Given the description of an element on the screen output the (x, y) to click on. 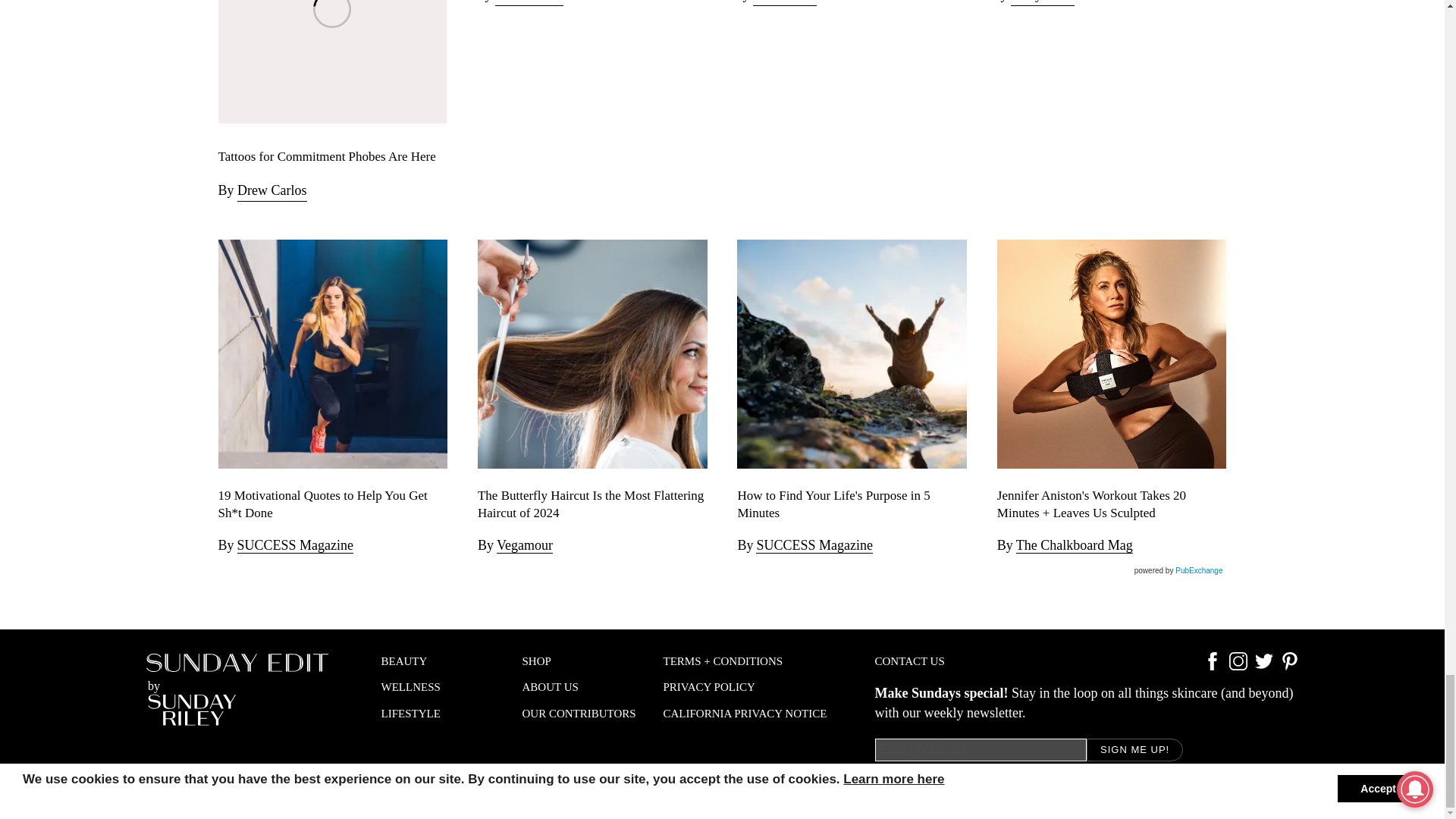
by (236, 689)
Twitter (1262, 666)
Facebook (1212, 666)
Instagram (1237, 666)
Pinterest (1288, 666)
